Given the description of an element on the screen output the (x, y) to click on. 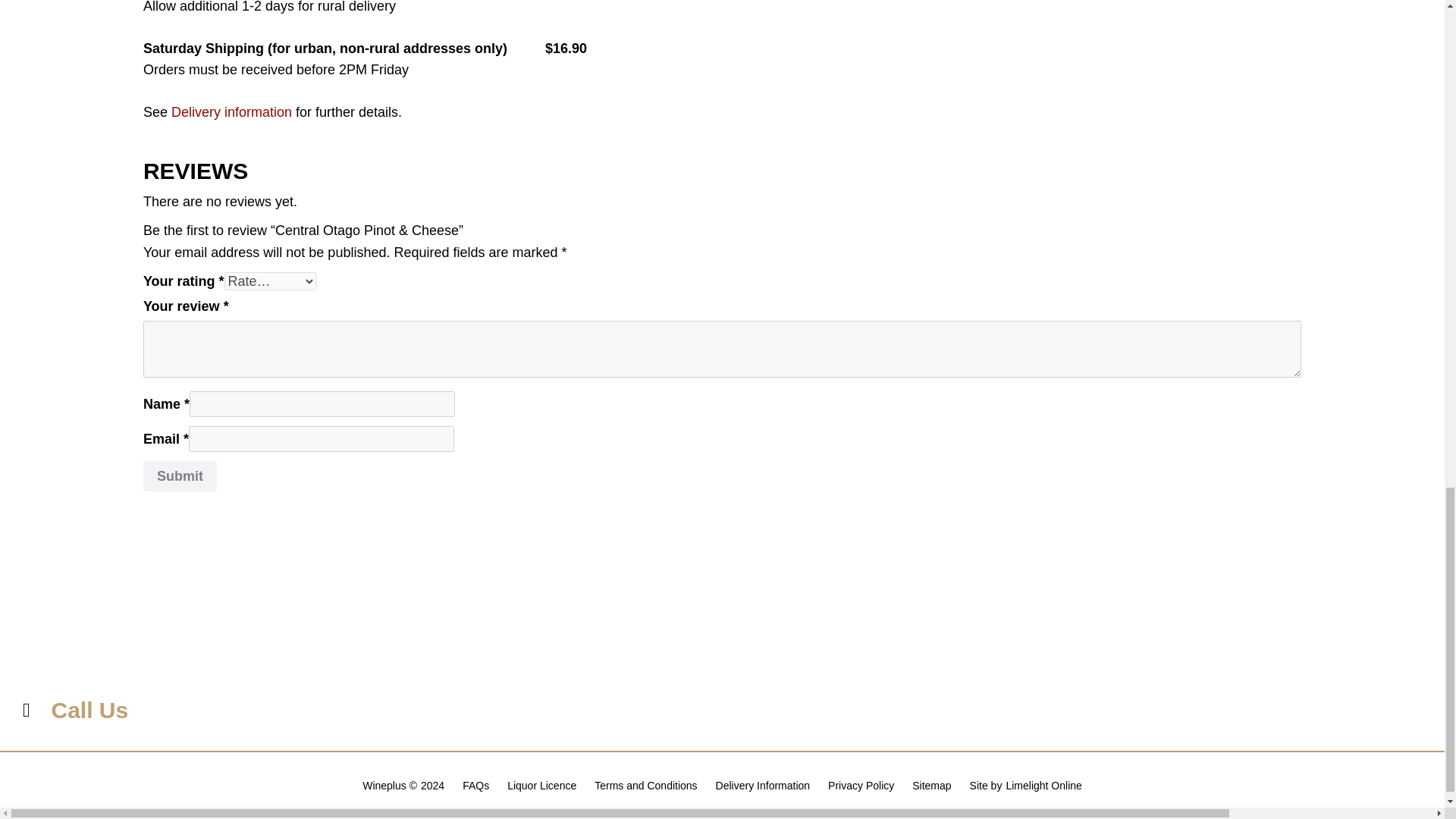
Delivery information (231, 111)
Submit (179, 476)
Submit (179, 476)
